Given the description of an element on the screen output the (x, y) to click on. 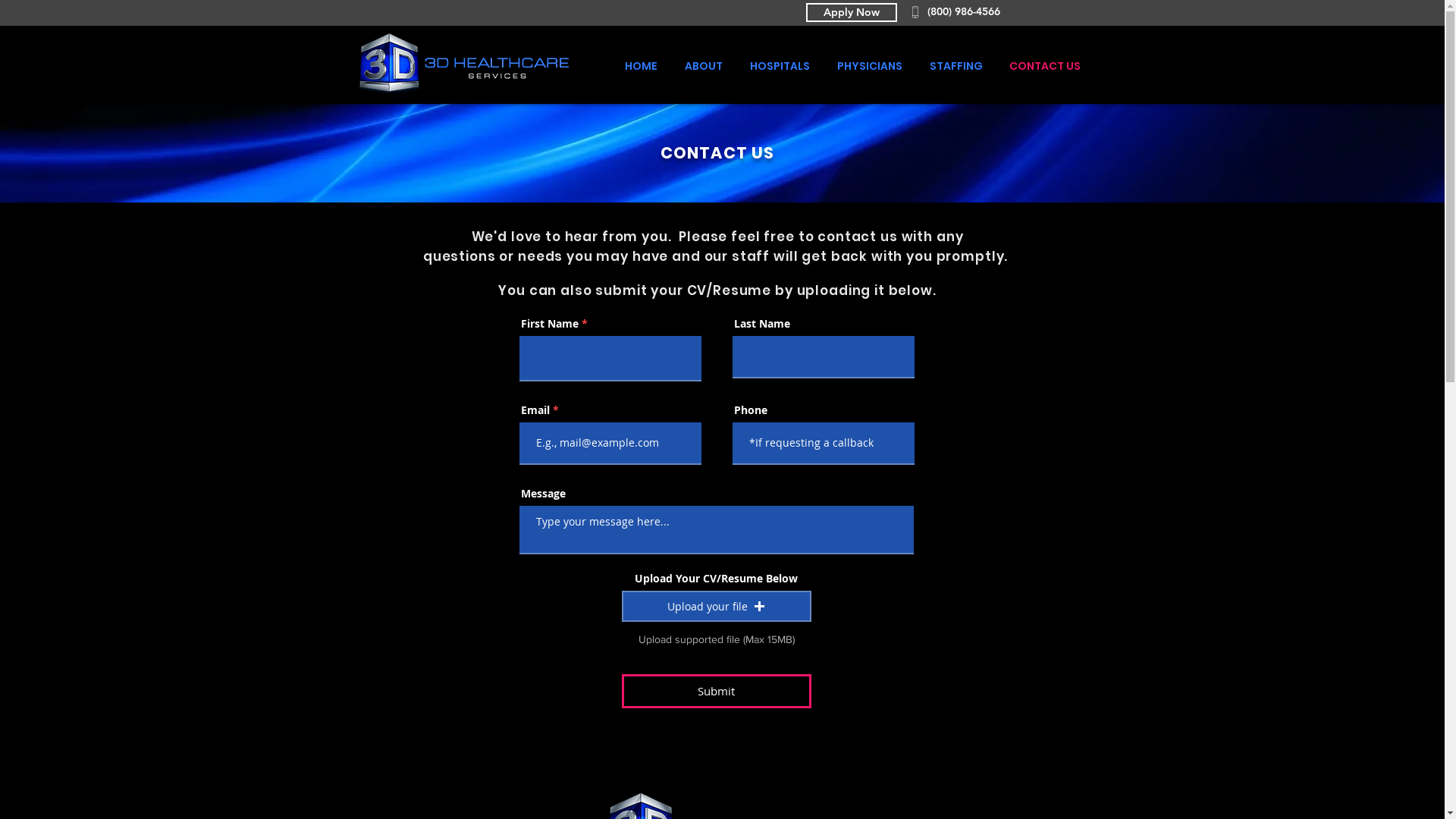
ABOUT Element type: text (701, 65)
STAFFING Element type: text (953, 65)
HOSPITALS Element type: text (777, 65)
PHYSICIANS Element type: text (866, 65)
CONTACT US Element type: text (1042, 65)
HOME Element type: text (638, 65)
Submit Element type: text (716, 691)
(800) 986-4566 Element type: text (969, 11)
Apply Now Element type: text (850, 12)
